Given the description of an element on the screen output the (x, y) to click on. 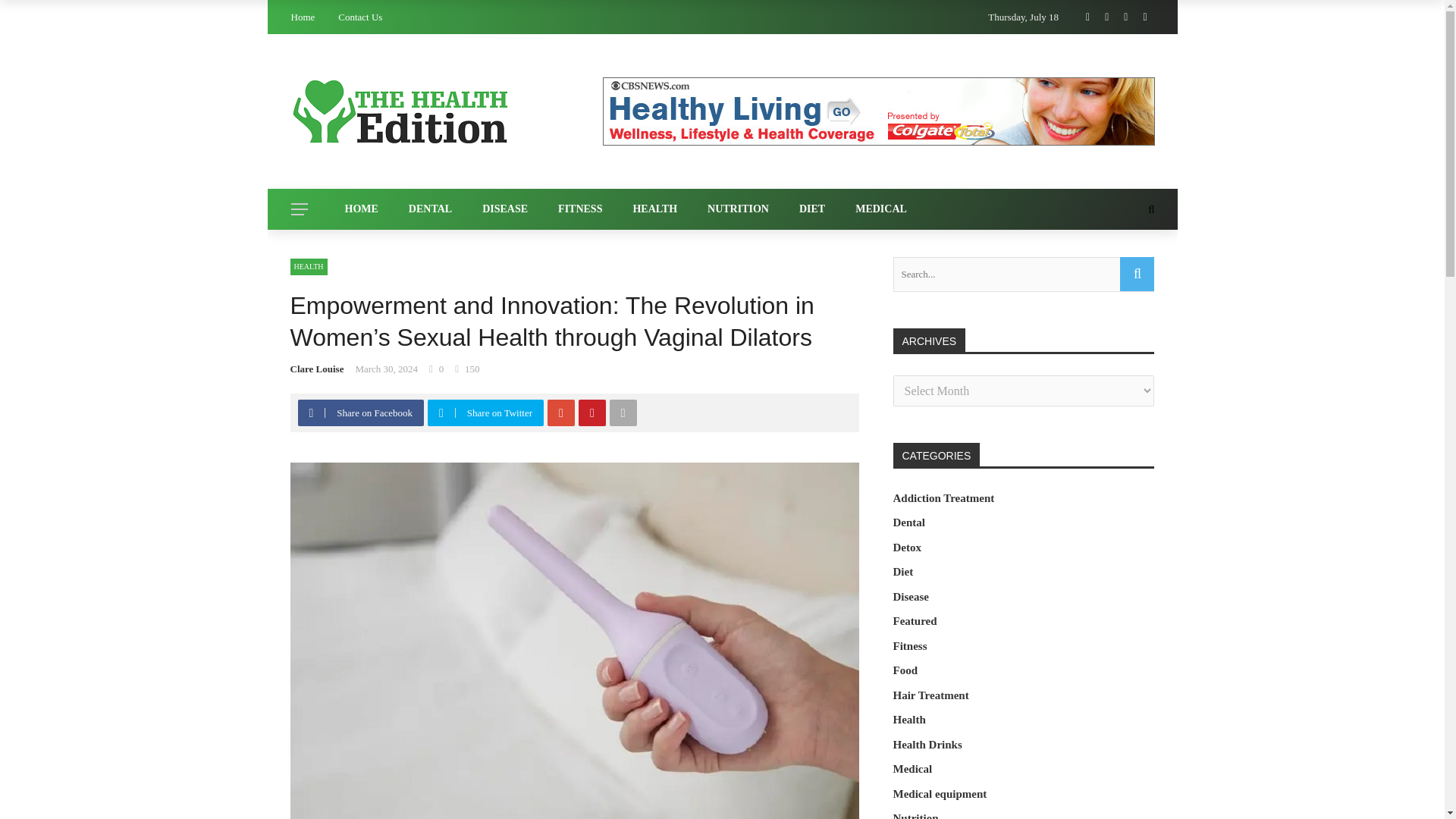
Home (303, 16)
MEDICAL (880, 209)
DIET (812, 209)
HEALTH (655, 209)
Contact Us (359, 16)
DISEASE (505, 209)
DENTAL (430, 209)
NUTRITION (738, 209)
HOME (361, 209)
FITNESS (580, 209)
